Given the description of an element on the screen output the (x, y) to click on. 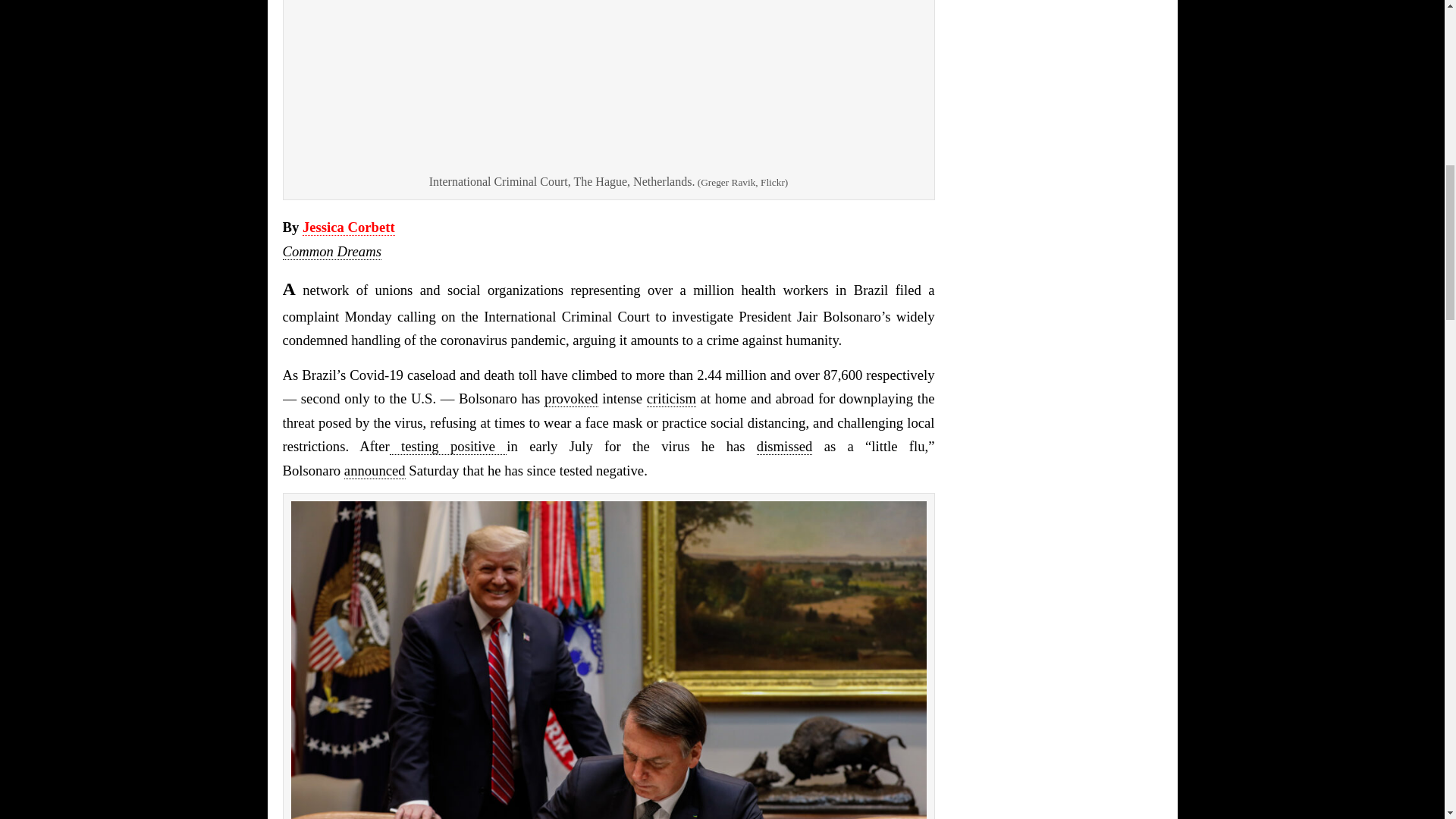
criticism (670, 398)
provoked (570, 398)
Common Dreams (331, 251)
 testing positive  (448, 446)
announced (374, 470)
dismissed (784, 446)
Jessica Corbett (348, 227)
